Given the description of an element on the screen output the (x, y) to click on. 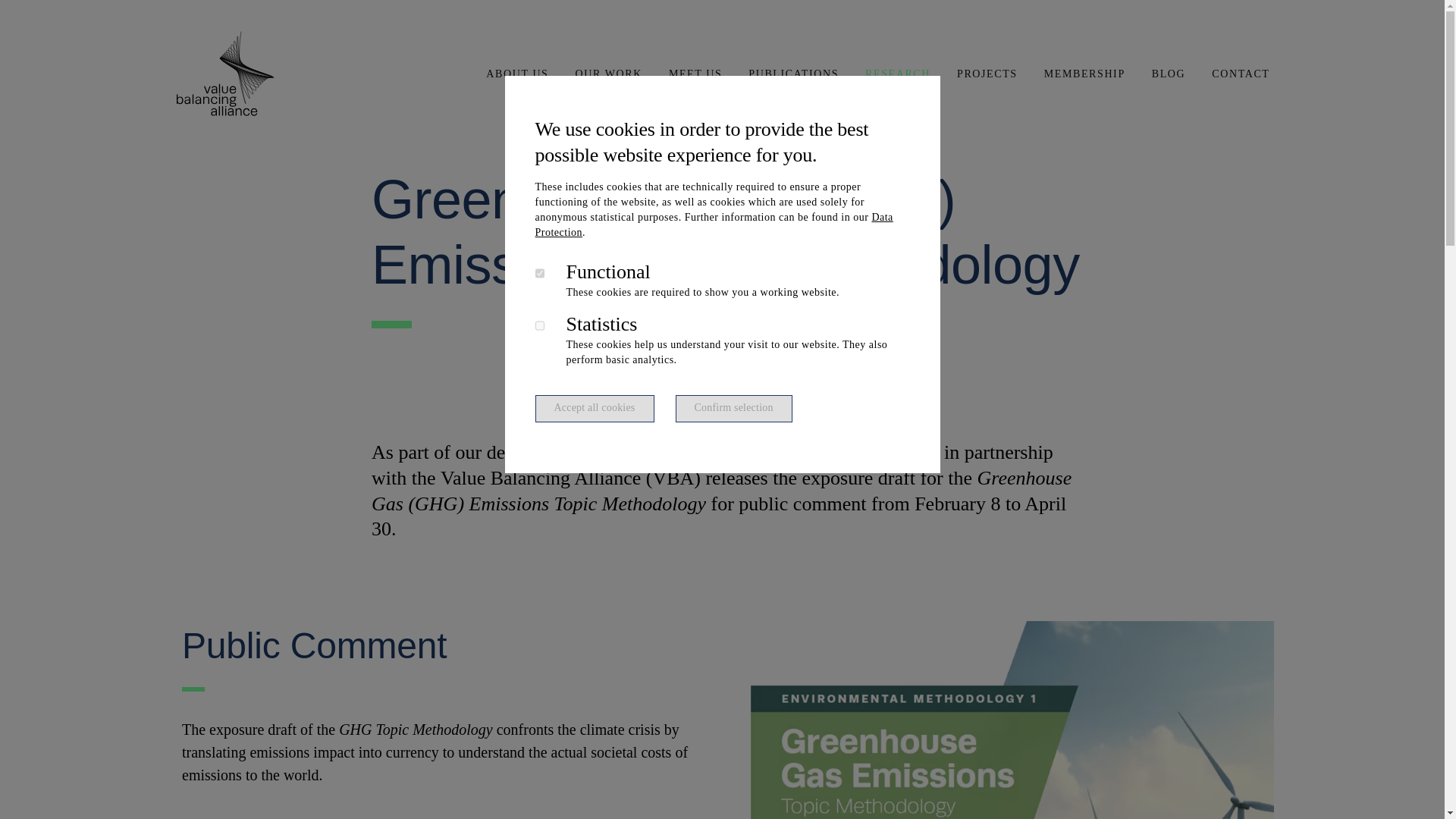
PUBLICATIONS (793, 74)
BLOG (1168, 74)
OUR WORK (607, 74)
PROJECTS (986, 74)
MEET US (695, 74)
on (539, 273)
on (539, 325)
CONTACT (1240, 74)
ABOUT US (516, 74)
MEMBERSHIP (1084, 74)
